Given the description of an element on the screen output the (x, y) to click on. 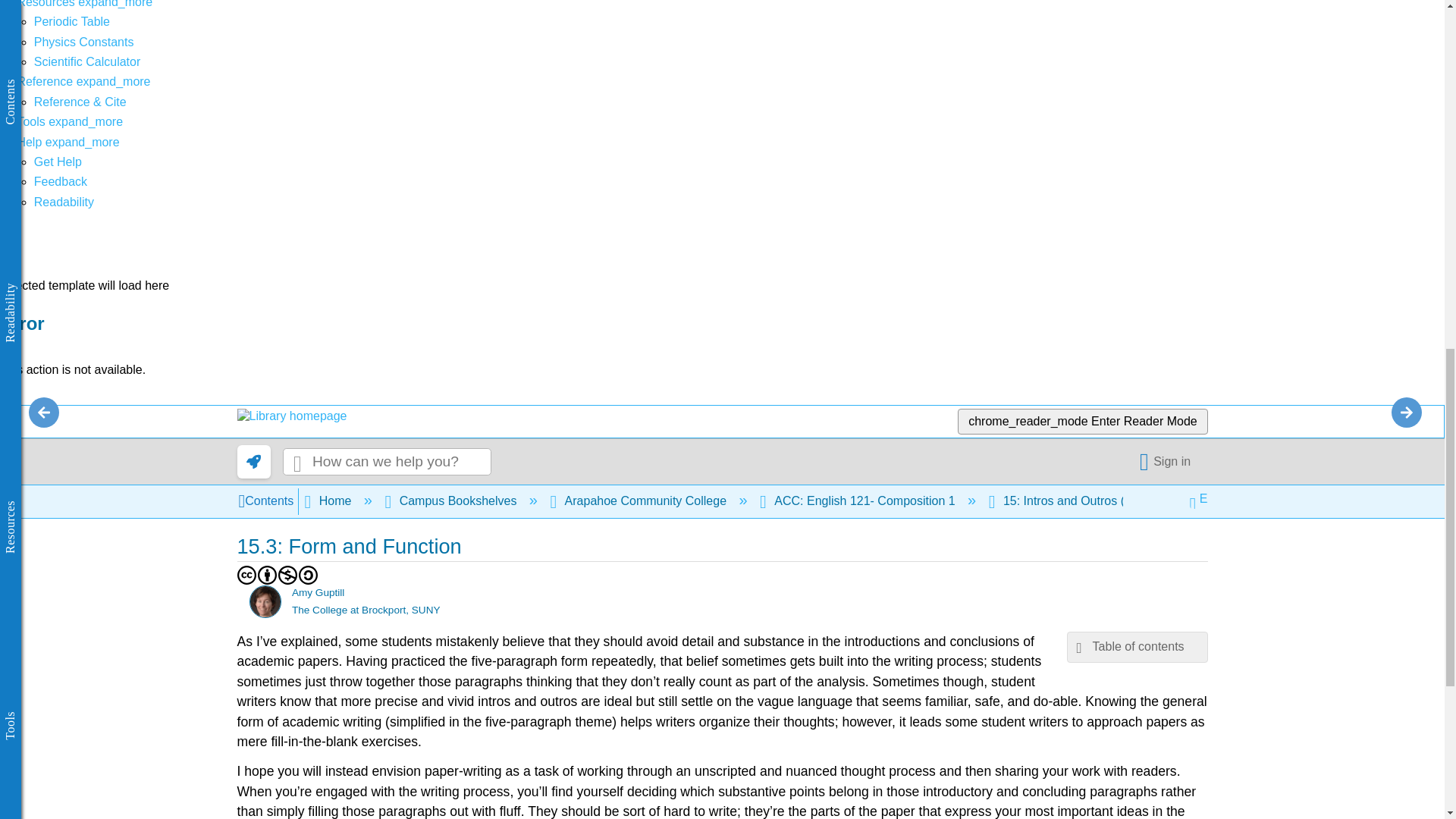
Feedback (60, 181)
Readability (63, 201)
SA (307, 574)
BY (267, 574)
Periodic Table (71, 21)
Get Help (57, 161)
NC (288, 574)
CC (246, 574)
Physics Constants (83, 42)
Scientific Calculator (87, 61)
Single Sign-On (1167, 461)
Amy Guptill (265, 601)
